Given the description of an element on the screen output the (x, y) to click on. 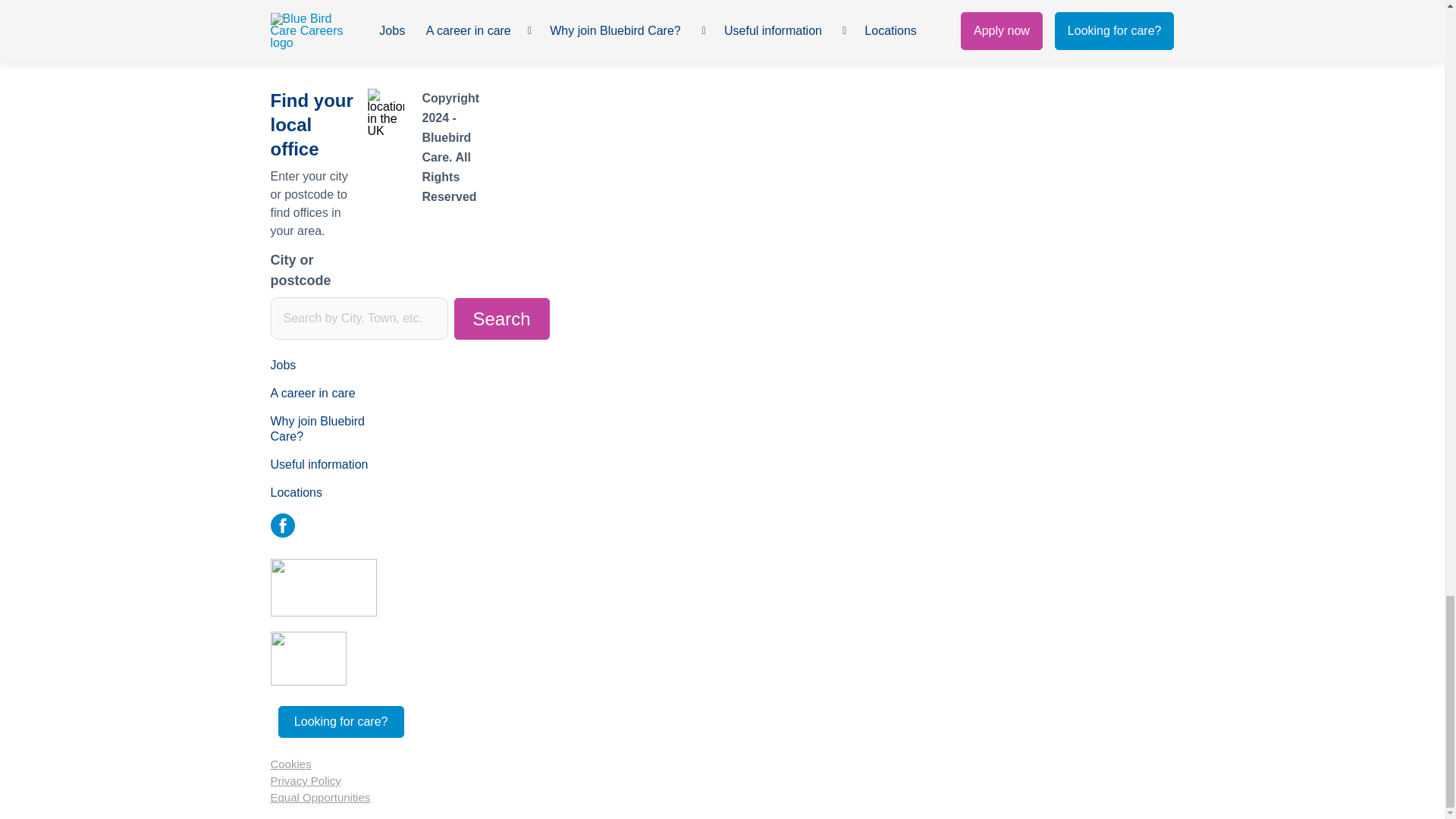
Why join Bluebird Care? (333, 429)
Jobs (333, 365)
A career in care (333, 394)
Useful information (333, 465)
